Given the description of an element on the screen output the (x, y) to click on. 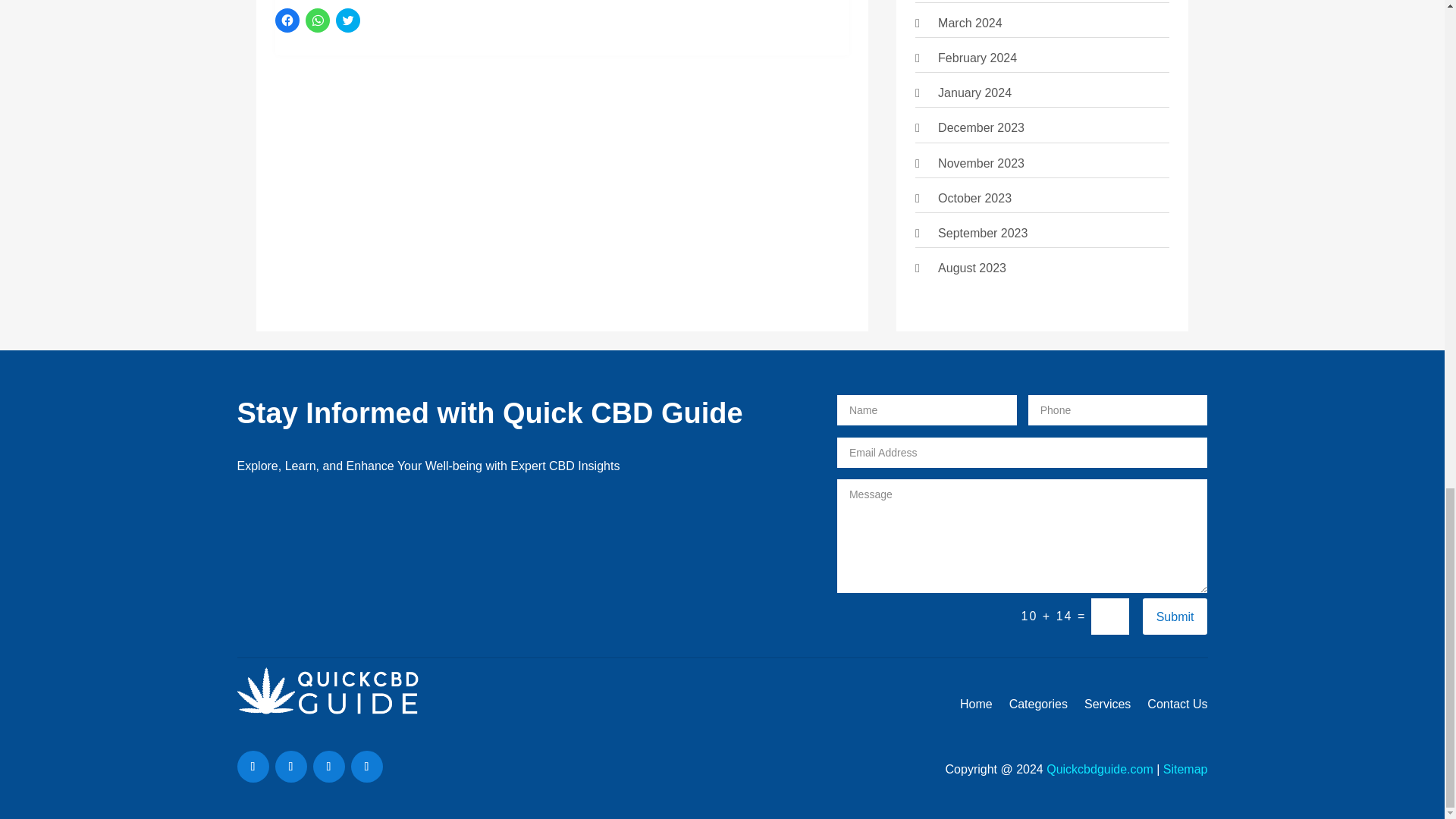
Follow on Youtube (328, 766)
Click to share on WhatsApp (316, 20)
Click to share on Twitter (346, 20)
Click to share on Facebook (286, 20)
Follow on Facebook (251, 766)
Follow on Twitter (290, 766)
March 2024 (970, 22)
Follow on LinkedIn (365, 766)
